Given the description of an element on the screen output the (x, y) to click on. 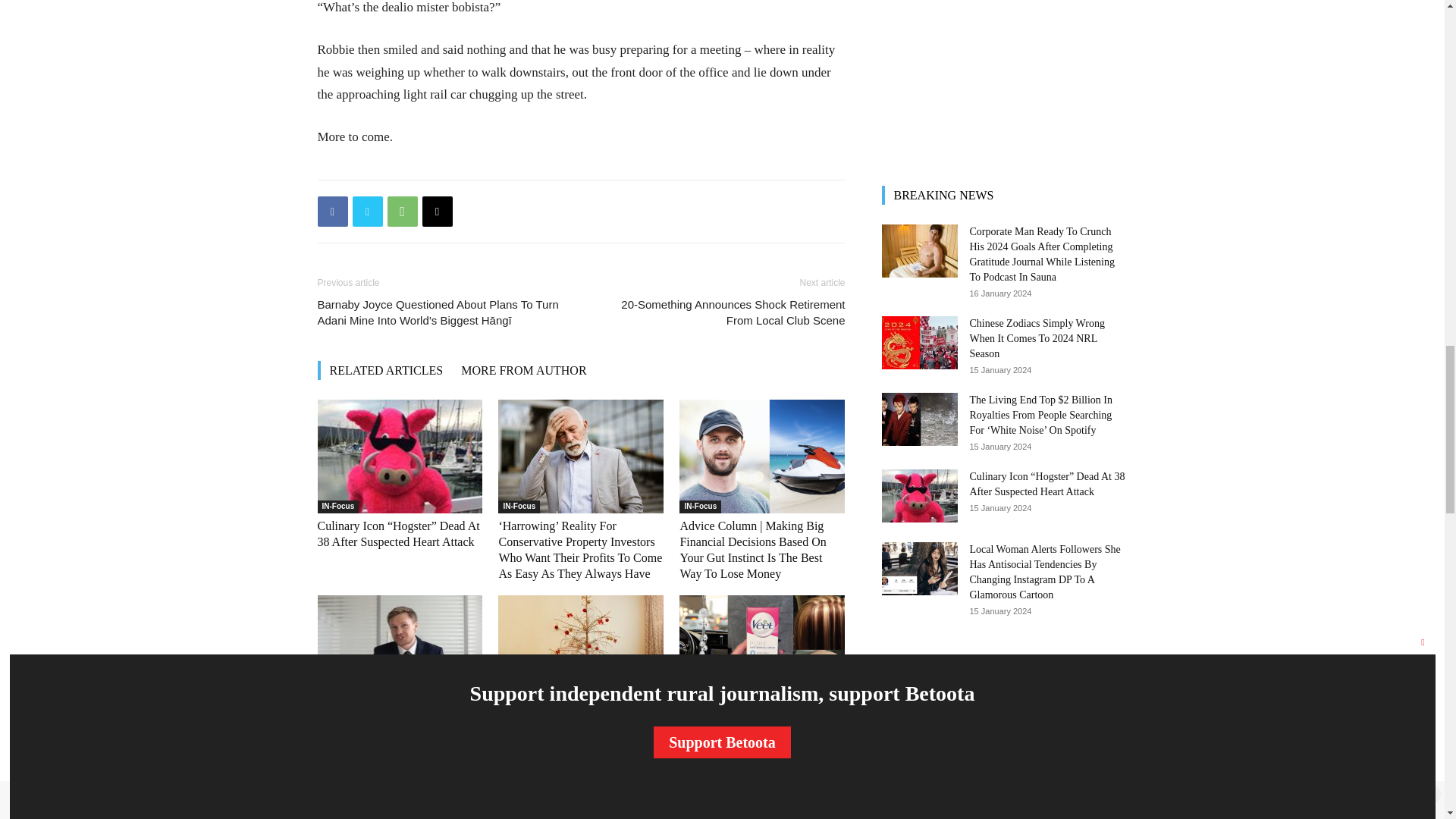
Facebook (332, 211)
Email (436, 211)
WhatsApp (401, 211)
Twitter (366, 211)
